Given the description of an element on the screen output the (x, y) to click on. 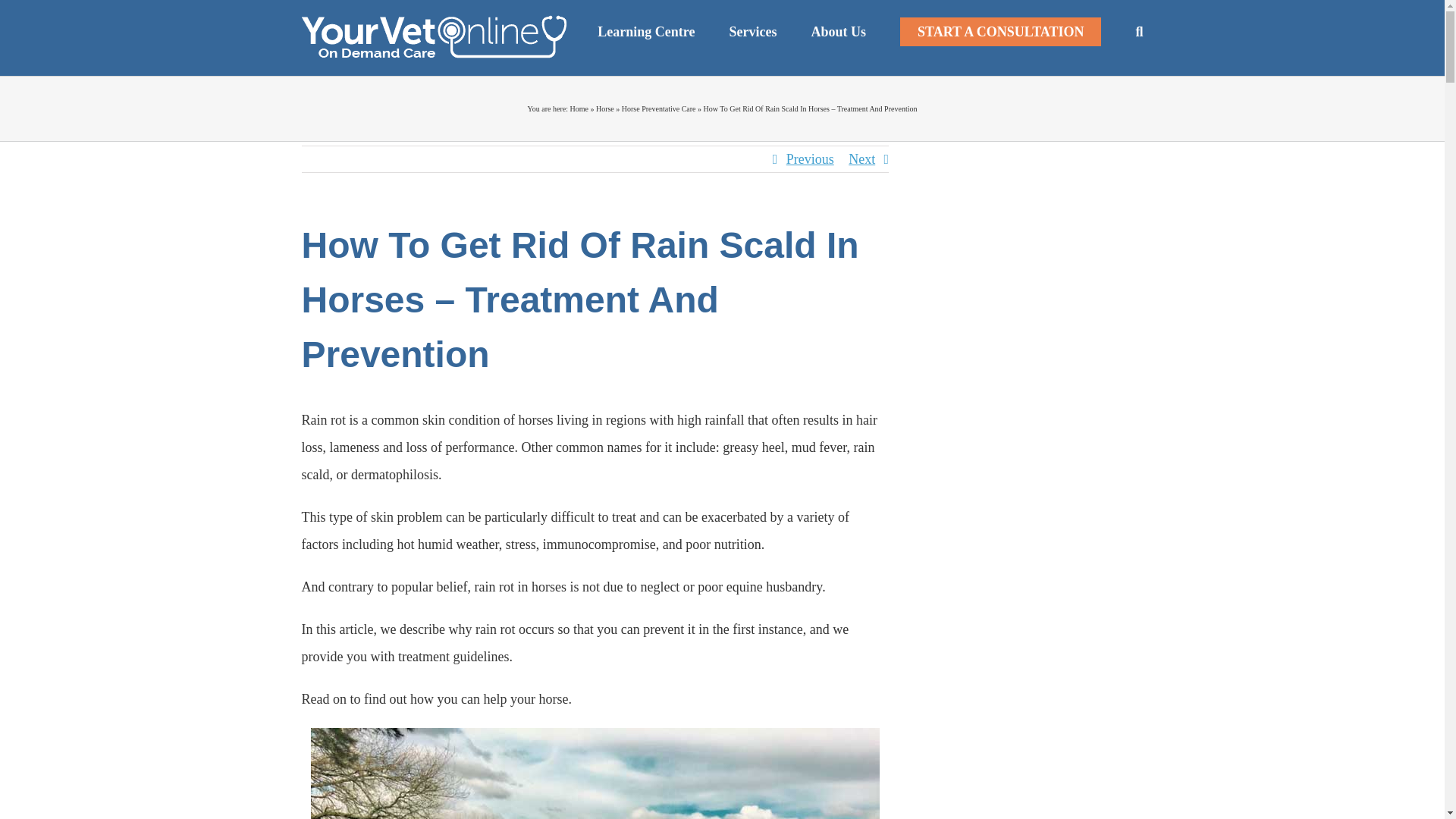
START A CONSULTATION (999, 31)
Home (578, 108)
Learning Centre (645, 31)
